Given the description of an element on the screen output the (x, y) to click on. 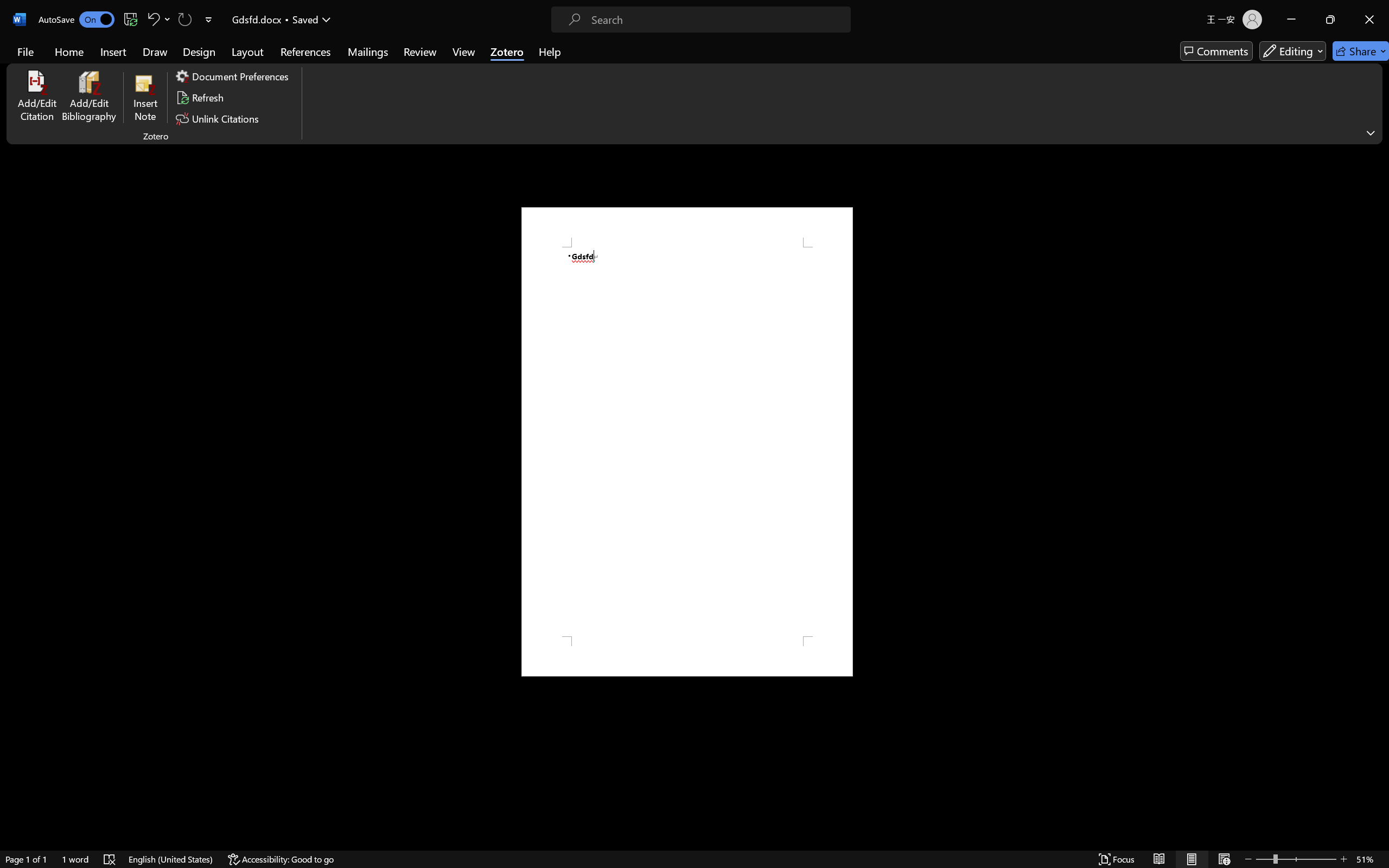
Page 1 content (686, 441)
